Given the description of an element on the screen output the (x, y) to click on. 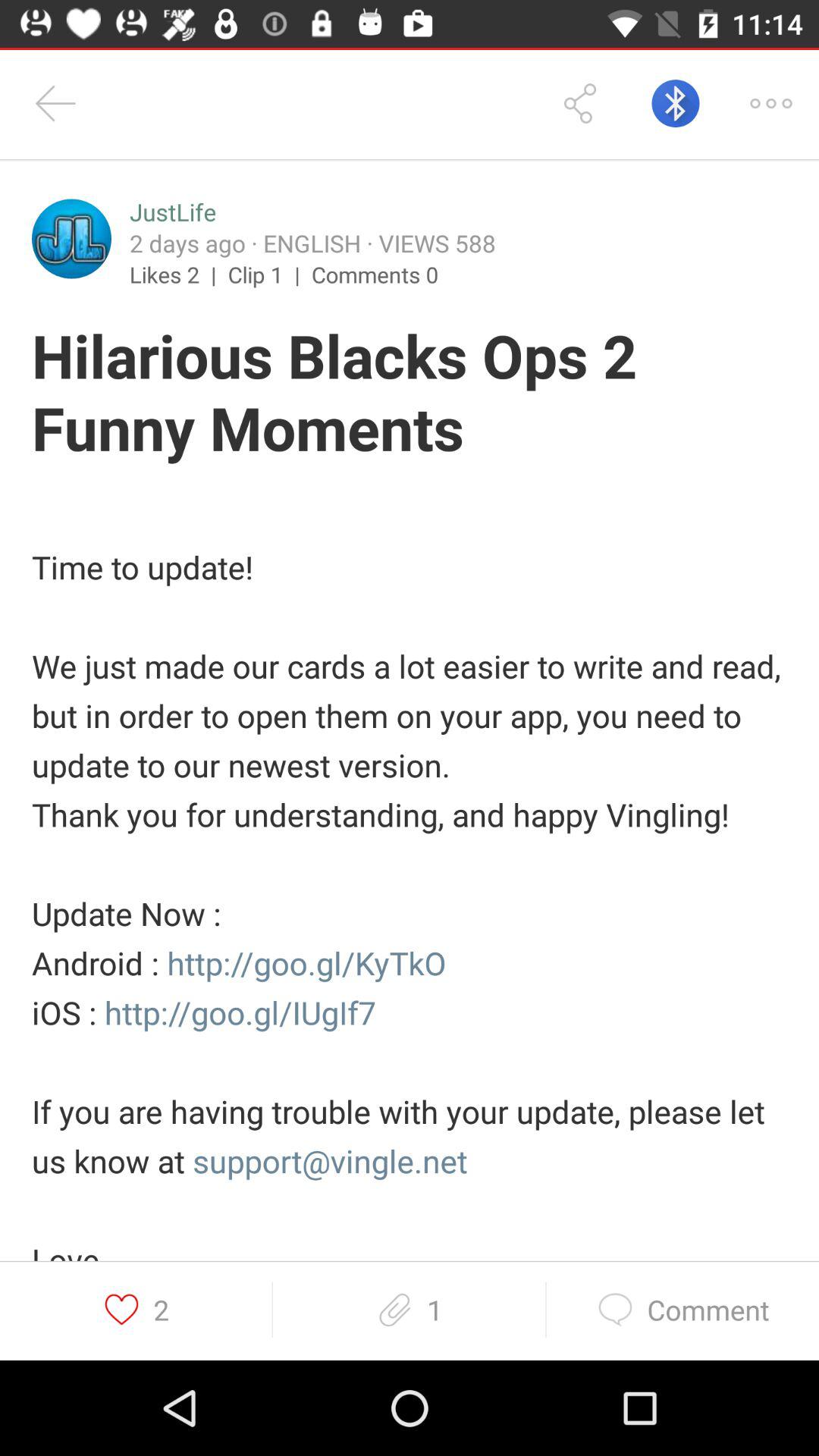
launch hilarious blacks ops item (409, 394)
